Given the description of an element on the screen output the (x, y) to click on. 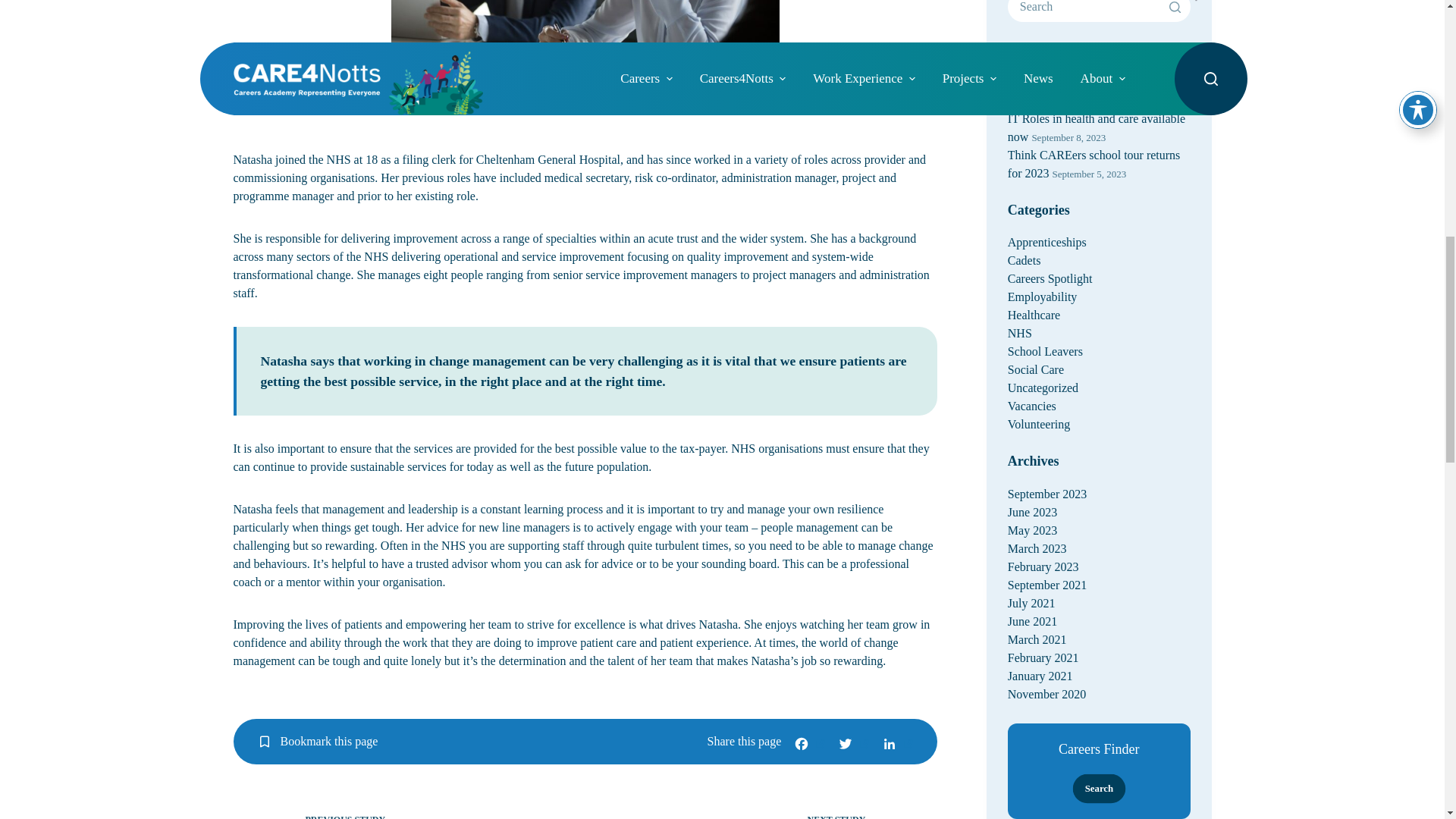
LinkedIn (894, 743)
Twitter (851, 743)
Facebook (807, 743)
